Given the description of an element on the screen output the (x, y) to click on. 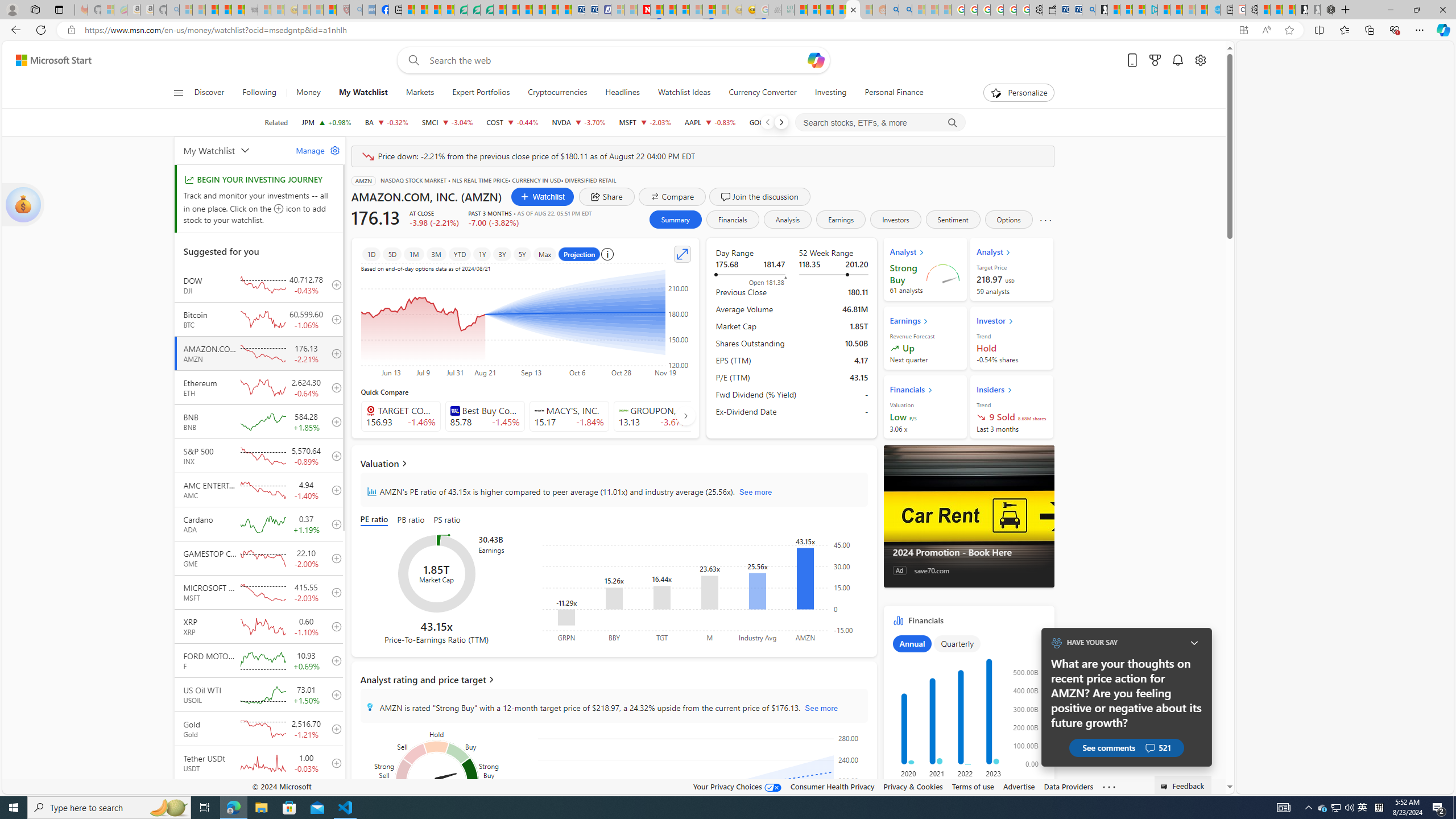
Financials (732, 219)
Analyst rating and price target (613, 679)
My Watchlist (363, 92)
show card (22, 204)
Annual (911, 643)
Your Privacy Choices (737, 785)
Watchlist (542, 196)
1D (371, 254)
